Given the description of an element on the screen output the (x, y) to click on. 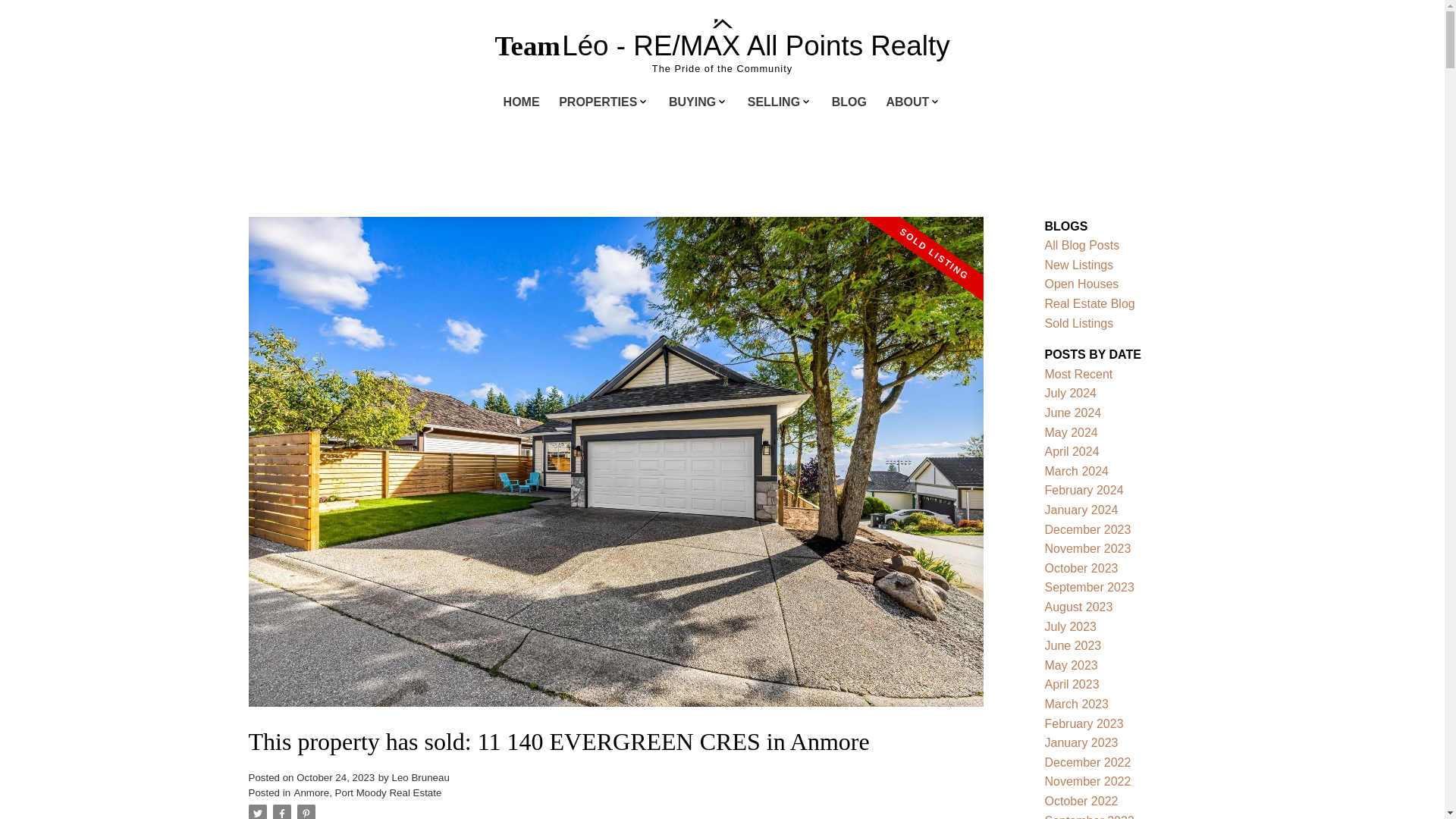
June 2024 (1073, 412)
July 2023 (1071, 626)
All Blog Posts (1082, 245)
November 2023 (1088, 548)
BLOG (848, 103)
New Listings (1079, 264)
Sold Listings (1079, 323)
April 2024 (1072, 451)
May 2024 (1071, 431)
Most Recent (1079, 373)
March 2024 (1077, 471)
September 2023 (1089, 586)
August 2023 (1079, 606)
February 2024 (1084, 490)
December 2023 (1088, 529)
